Given the description of an element on the screen output the (x, y) to click on. 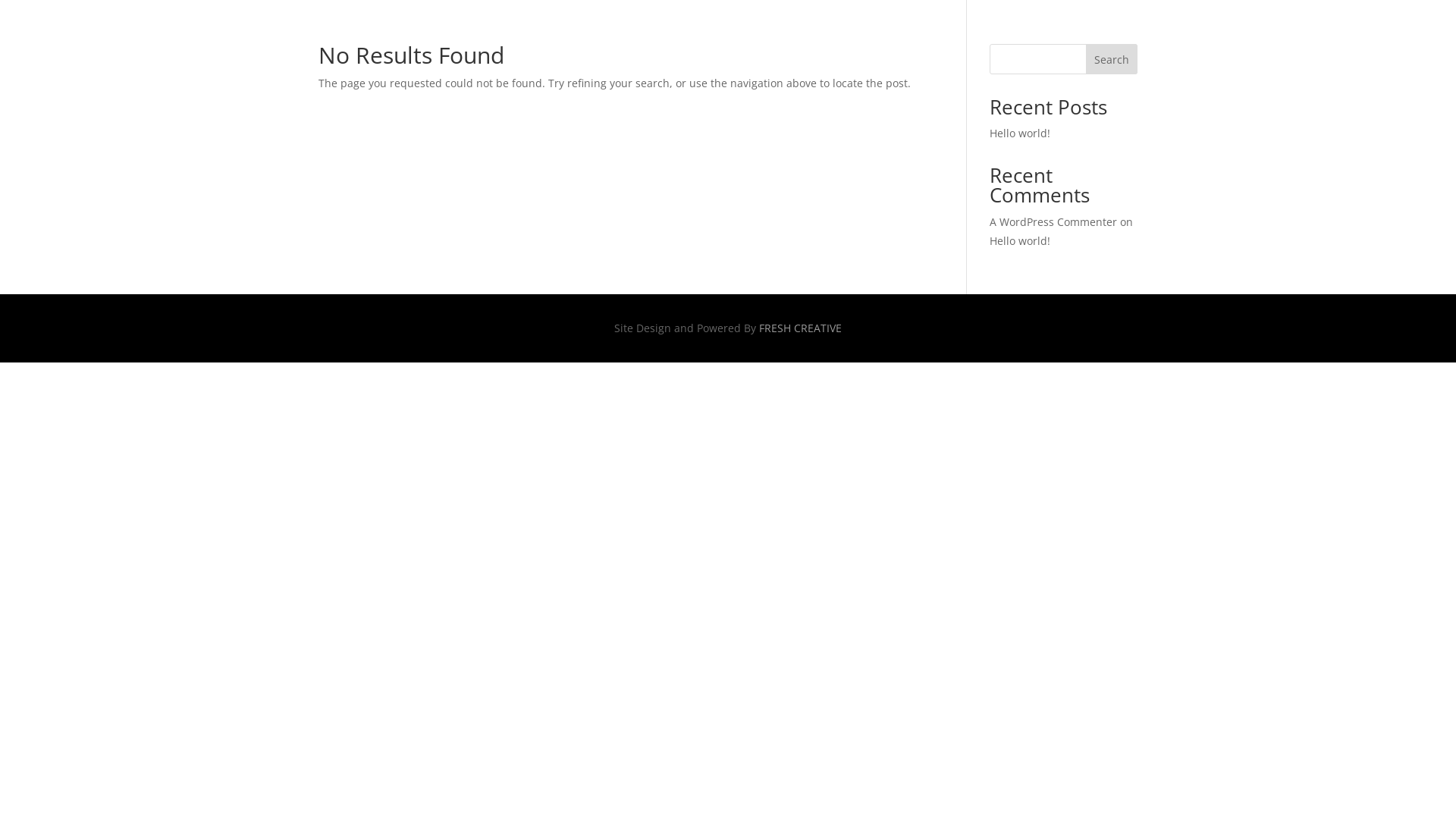
FRESH CREATIVE Element type: text (800, 327)
Search Element type: text (1111, 58)
Hello world! Element type: text (1019, 132)
Hello world! Element type: text (1019, 240)
A WordPress Commenter Element type: text (1053, 221)
